Given the description of an element on the screen output the (x, y) to click on. 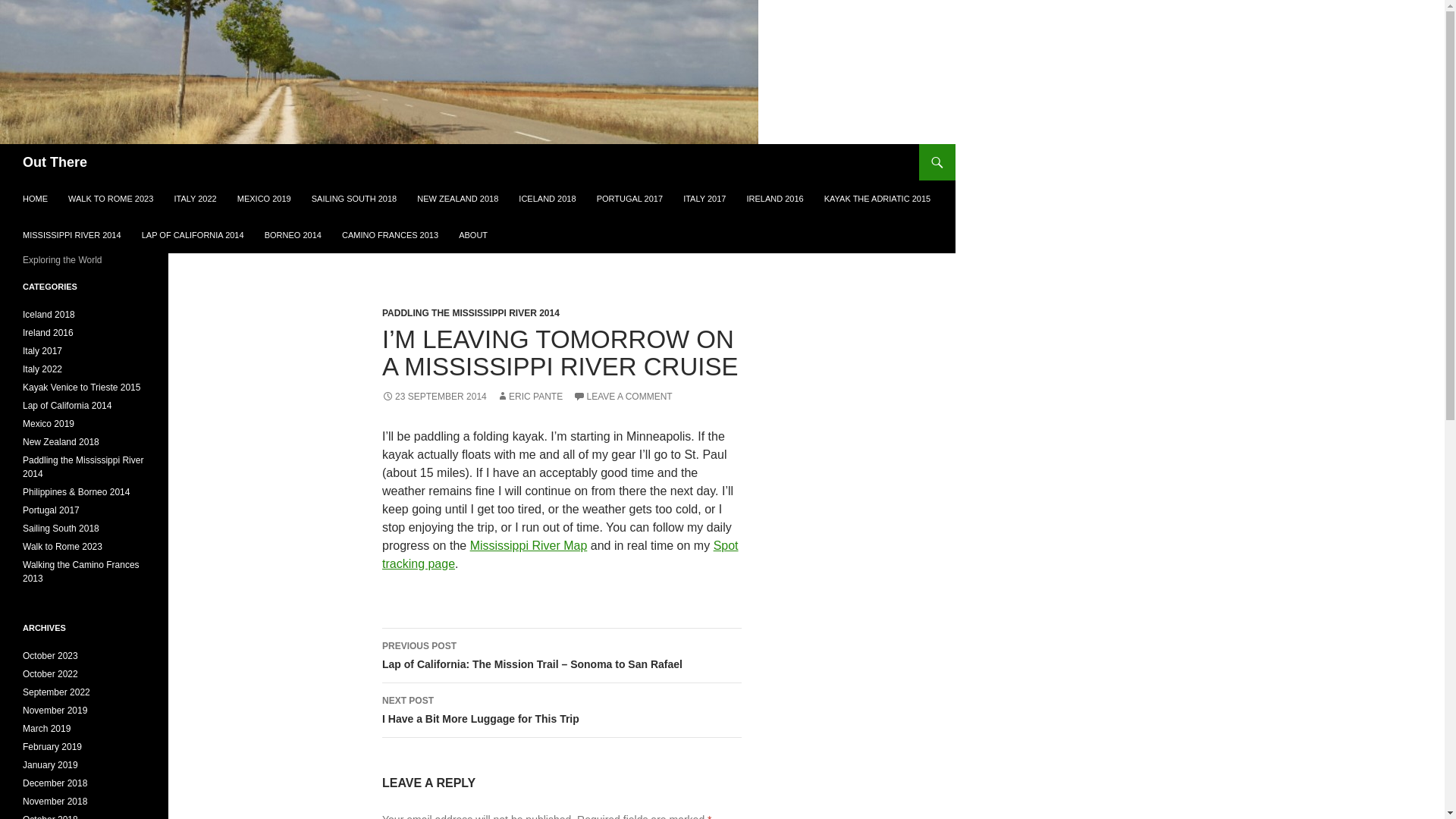
Out There (55, 162)
NEW ZEALAND 2018 (456, 198)
Iceland 2018 (49, 314)
CAMINO FRANCES 2013 (389, 235)
ICELAND 2018 (547, 198)
ABOUT (472, 235)
MEXICO 2019 (263, 198)
Spot tracking page (559, 554)
MISSISSIPPI RIVER 2014 (72, 235)
IRELAND 2016 (774, 198)
LAP OF CALIFORNIA 2014 (192, 235)
SKIP TO CONTENT (59, 186)
LEAVE A COMMENT (622, 396)
Ireland 2016 (48, 332)
Mississippi River Map (529, 545)
